Given the description of an element on the screen output the (x, y) to click on. 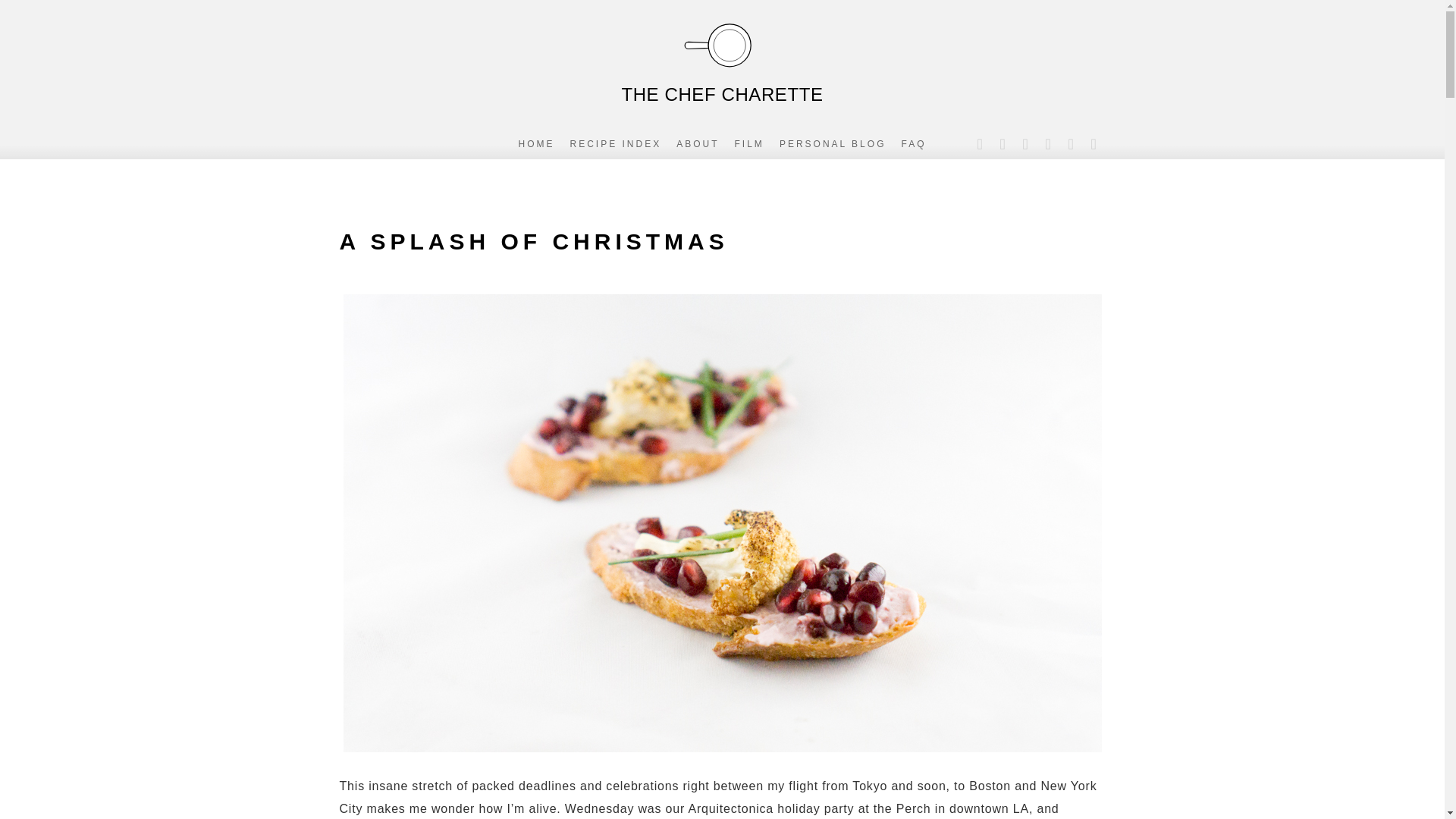
PERSONAL BLOG (832, 143)
HOME (536, 143)
ABOUT (697, 143)
FILM (748, 143)
FAQ (913, 143)
THE CHEF CHARETTE (721, 60)
RECIPE INDEX (615, 143)
